Given the description of an element on the screen output the (x, y) to click on. 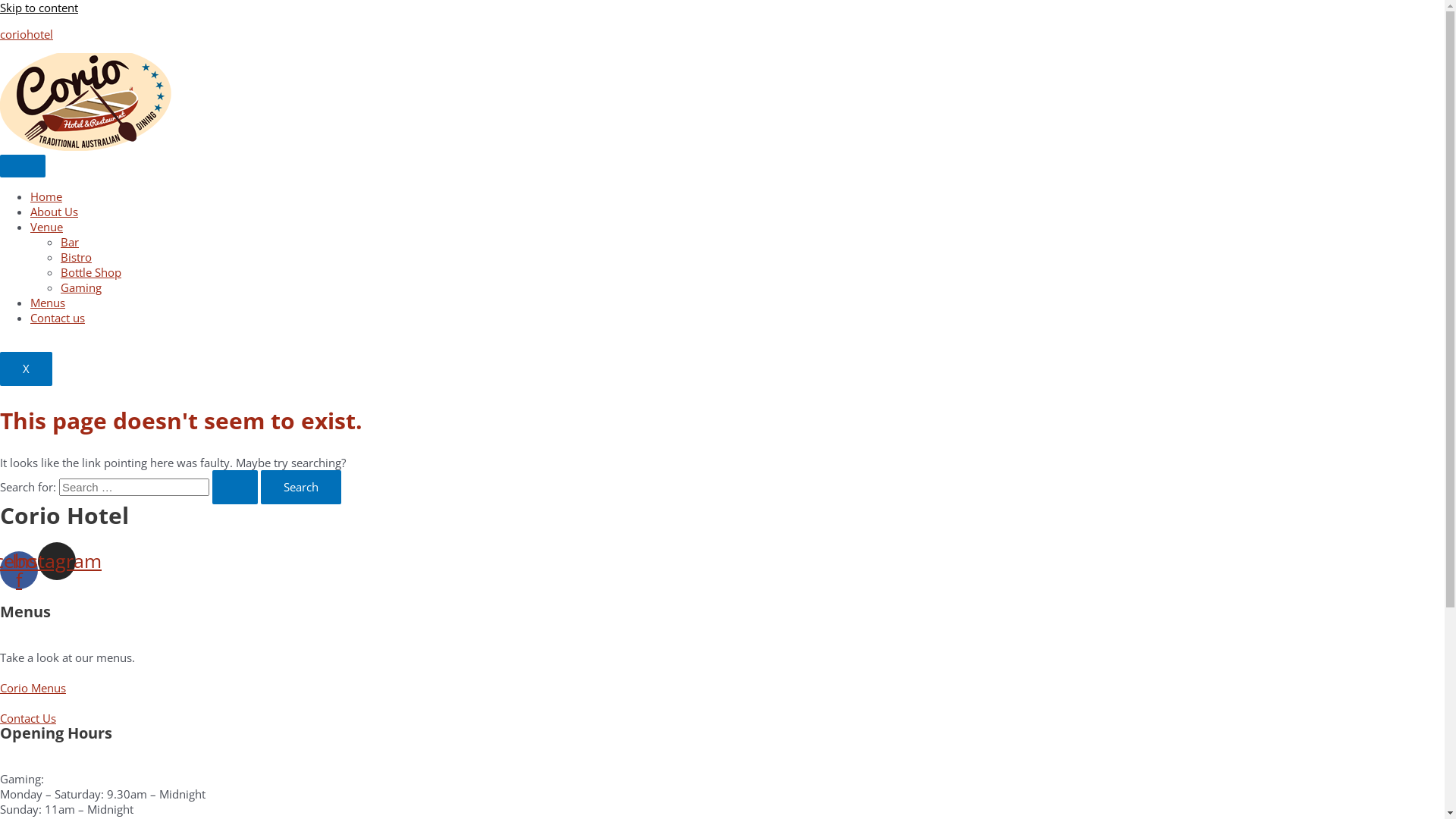
Facebook-f Element type: text (18, 570)
Home Element type: text (46, 195)
Gaming Element type: text (80, 286)
Contact Us Element type: text (28, 717)
About Us Element type: text (54, 211)
Instagram Element type: text (56, 561)
X Element type: text (26, 368)
coriohotel Element type: text (26, 33)
Bottle Shop Element type: text (90, 271)
Contact us Element type: text (57, 317)
Menus Element type: text (47, 302)
Search Element type: text (300, 487)
Bar Element type: text (69, 241)
Bistro Element type: text (75, 256)
Corio Menus Element type: text (32, 687)
Skip to content Element type: text (39, 7)
Venue Element type: text (46, 226)
